Given the description of an element on the screen output the (x, y) to click on. 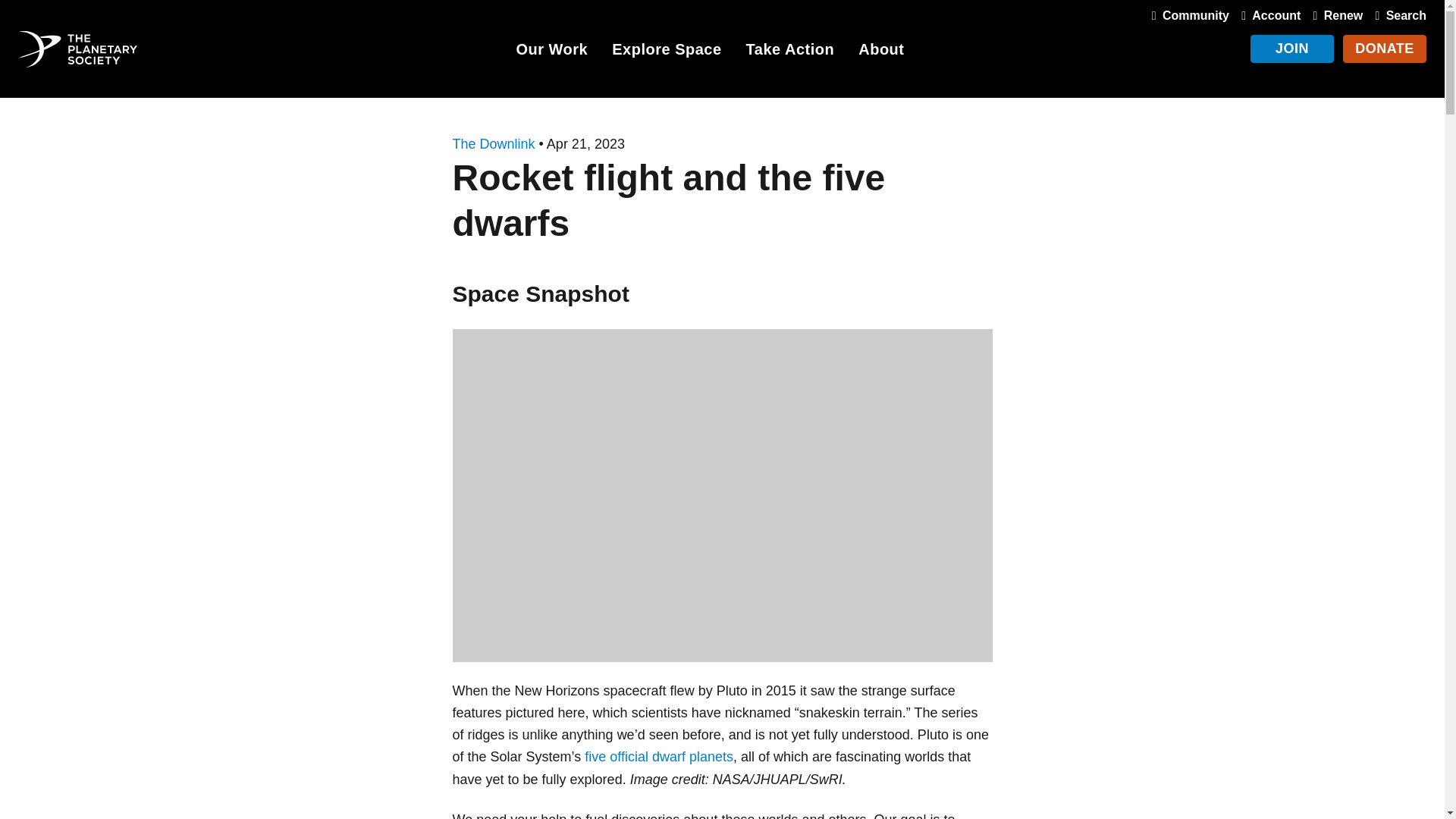
About (881, 51)
Community (1186, 15)
Account (1267, 15)
Search (1397, 15)
Our Work (551, 51)
Renew (1334, 15)
JOIN (1291, 49)
Explore Space (665, 51)
DONATE (1384, 49)
Take Action (789, 51)
